Given the description of an element on the screen output the (x, y) to click on. 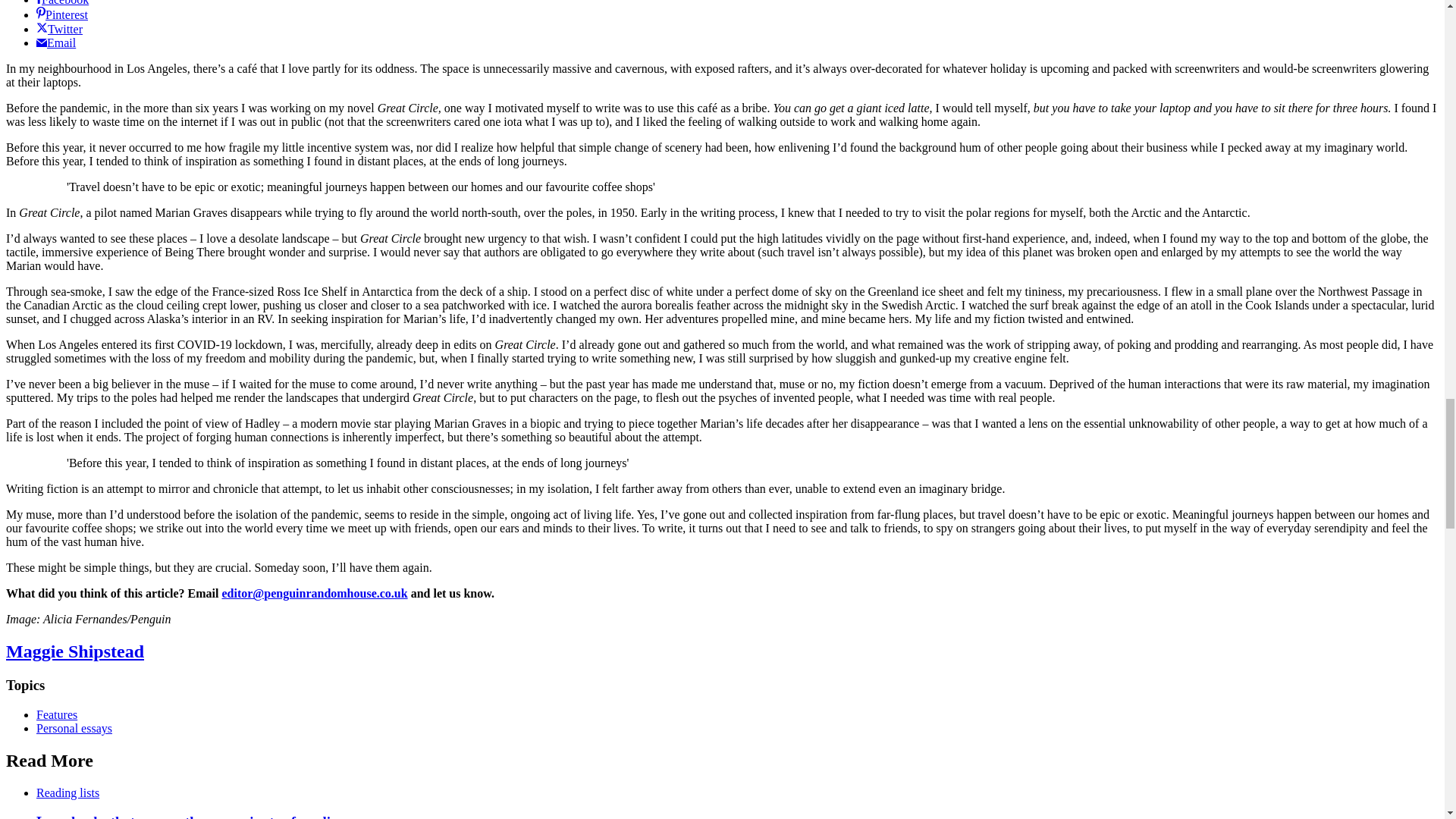
Personal essays (74, 727)
Facebook (62, 2)
Email (55, 42)
Twitter (59, 29)
Pinterest (61, 14)
Features (56, 714)
